Given the description of an element on the screen output the (x, y) to click on. 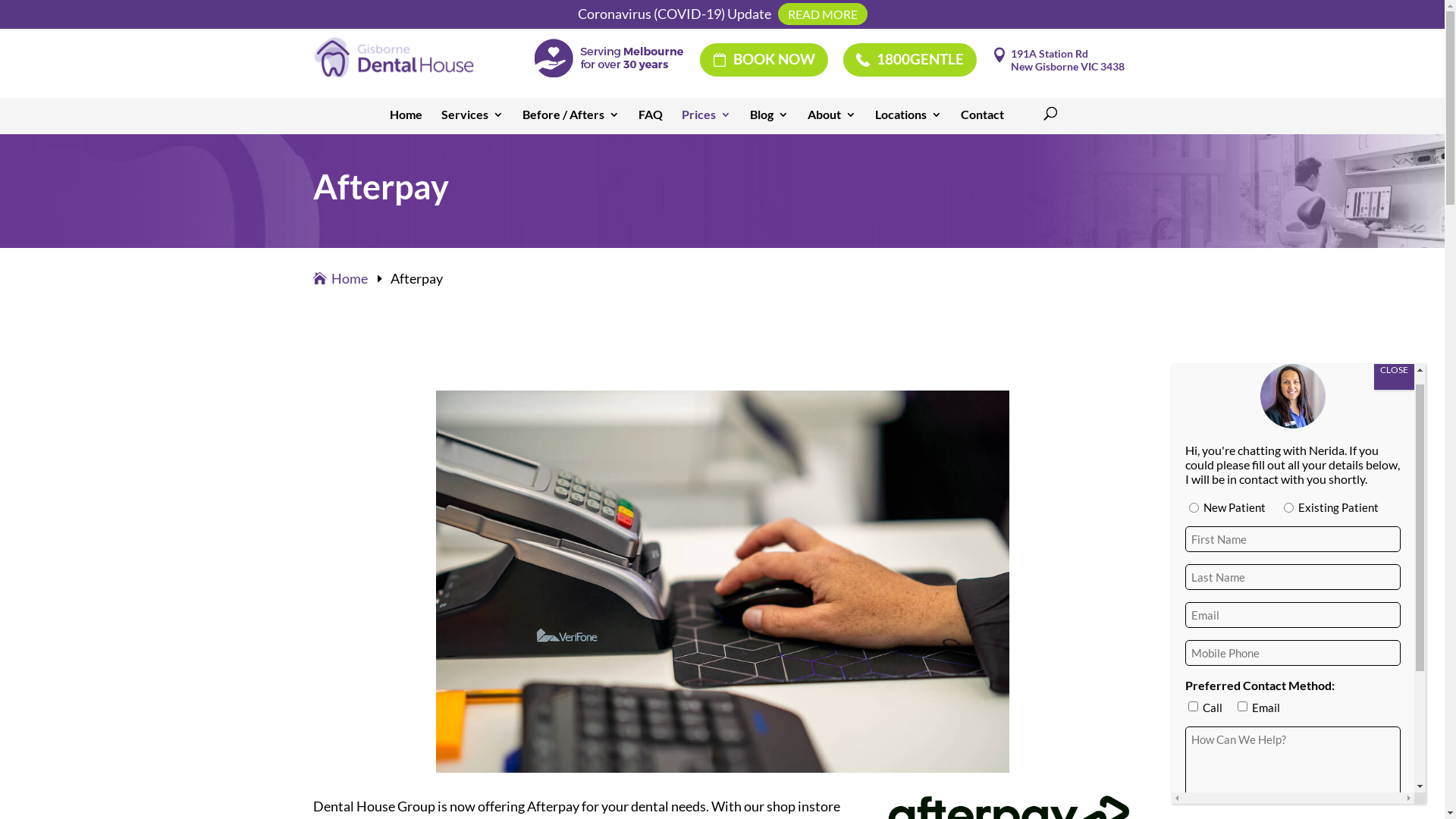
Before / Afters Element type: text (569, 119)
Blog Element type: text (768, 119)
READ MORE Element type: text (822, 14)
Contact Element type: text (981, 119)
Services Element type: text (472, 119)
CLOSE Element type: text (1394, 369)
About Element type: text (830, 119)
BOOK NOW Element type: text (763, 59)
Prices Element type: text (705, 119)
FAQ Element type: text (650, 119)
Locations Element type: text (908, 119)
1800GENTLE Element type: text (909, 59)
Home Element type: text (341, 277)
Home Element type: text (405, 119)
